Given the description of an element on the screen output the (x, y) to click on. 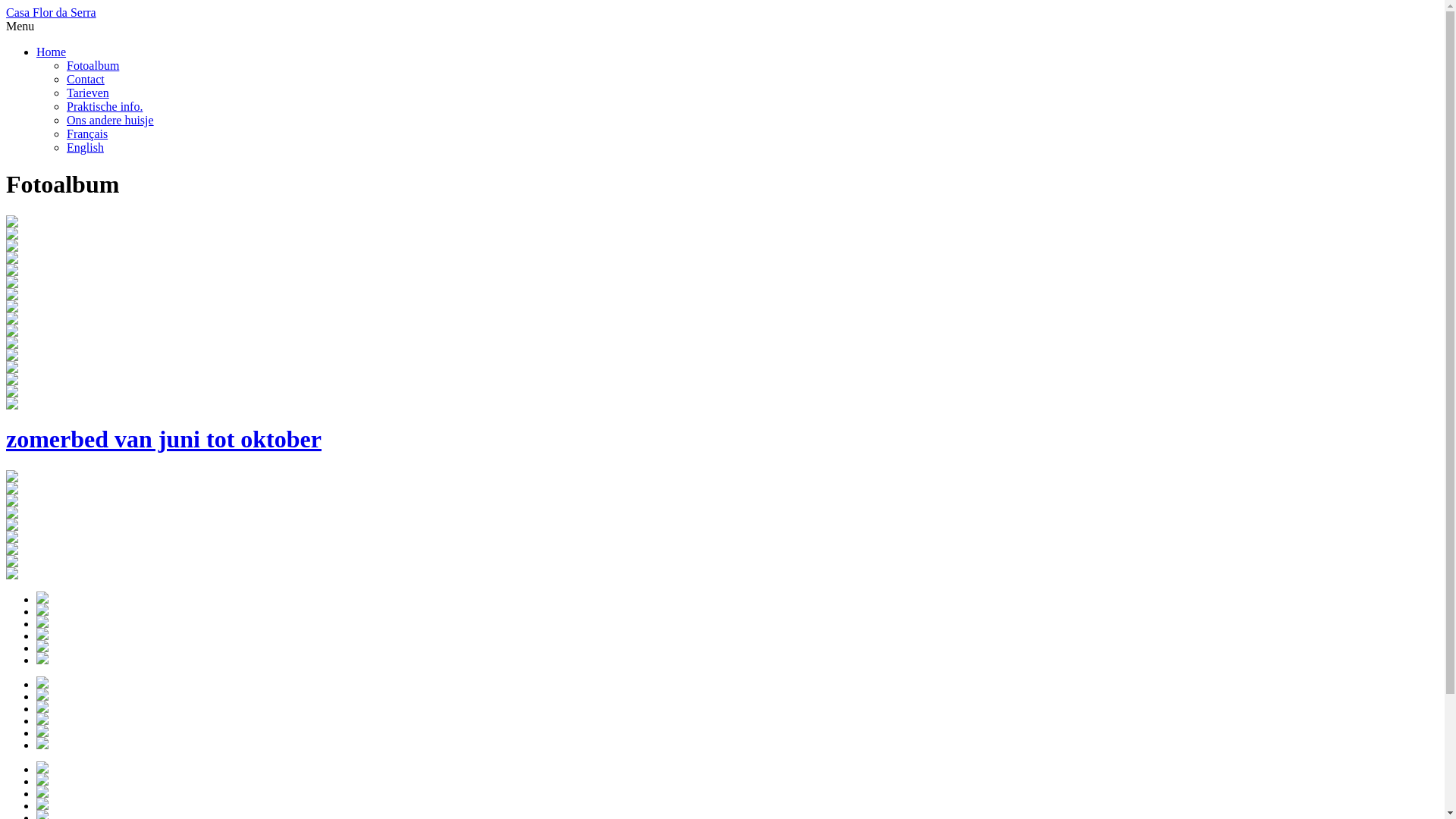
Contact Element type: text (85, 78)
Menu Element type: text (20, 25)
Casa Flor da Serra Element type: text (51, 12)
English Element type: text (84, 147)
Home Element type: text (50, 51)
Tarieven Element type: text (87, 92)
zomerbed van juni tot oktober Element type: text (722, 425)
Fotoalbum Element type: text (92, 65)
Ons andere huisje Element type: text (109, 119)
Praktische info. Element type: text (104, 106)
